Given the description of an element on the screen output the (x, y) to click on. 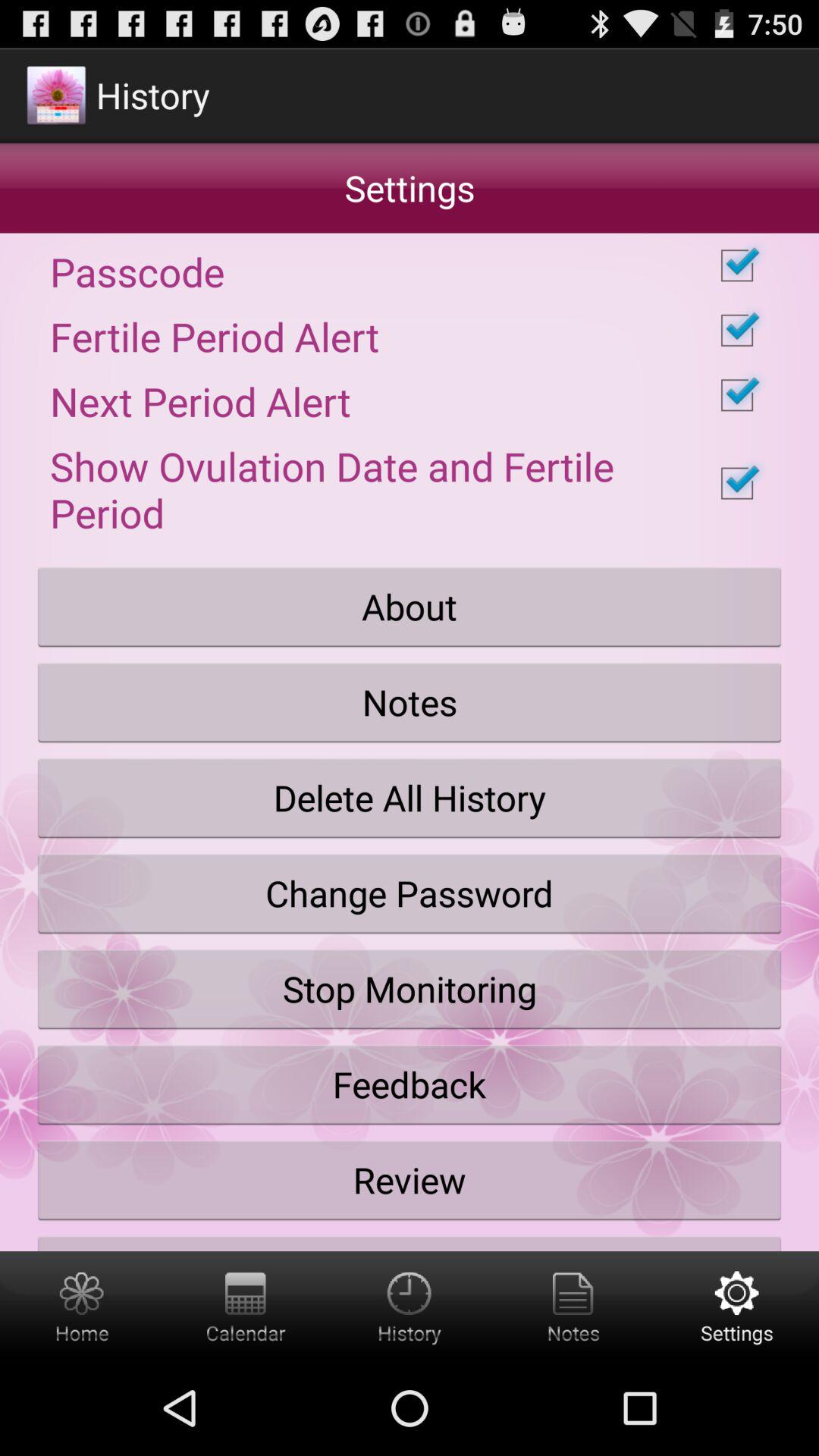
open the delete all history (409, 797)
